Given the description of an element on the screen output the (x, y) to click on. 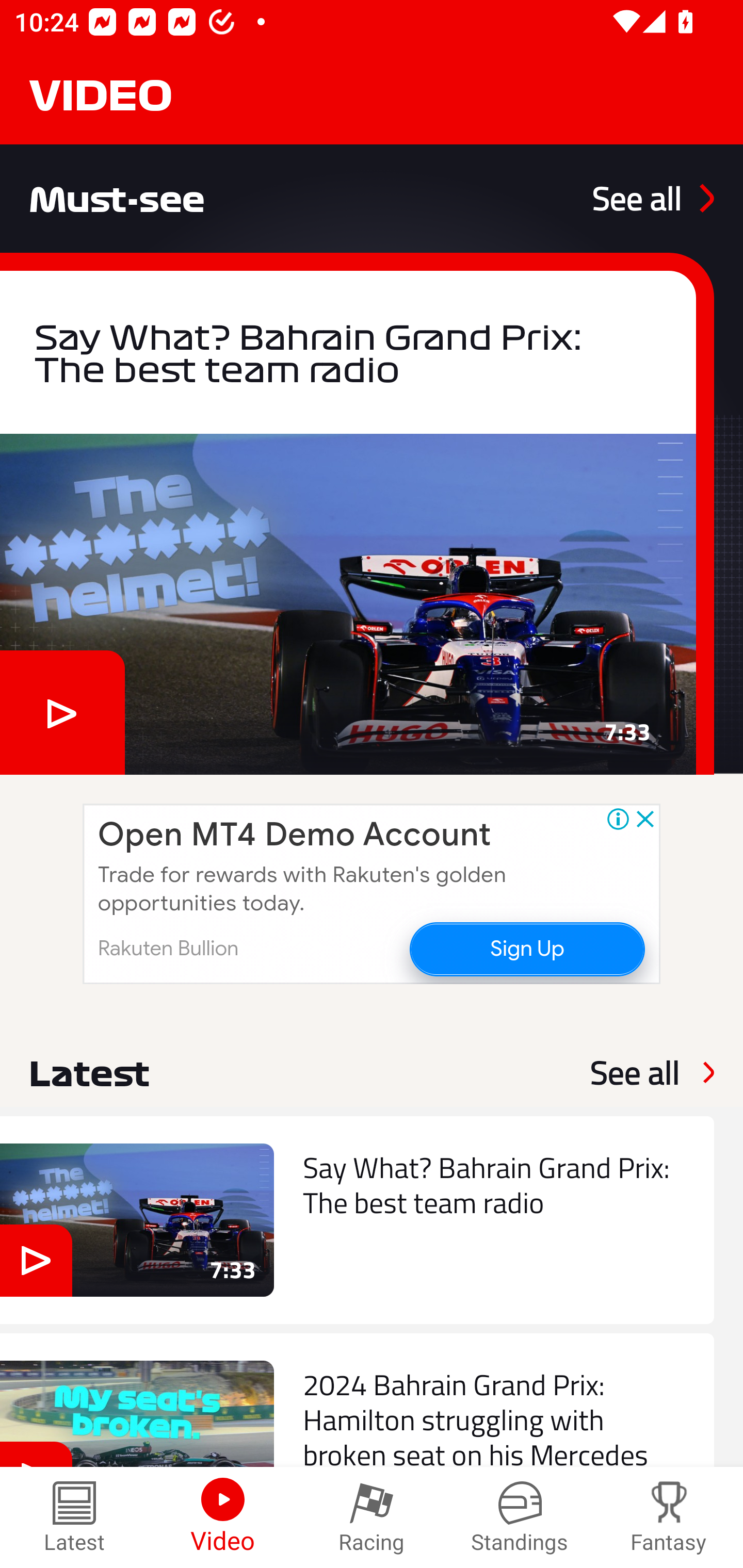
See all (653, 198)
Open MT4 Demo Account (294, 834)
Sign Up (526, 948)
Rakuten Bullion (168, 948)
See all (634, 1072)
Latest (74, 1517)
Racing (371, 1517)
Standings (519, 1517)
Fantasy (668, 1517)
